Given the description of an element on the screen output the (x, y) to click on. 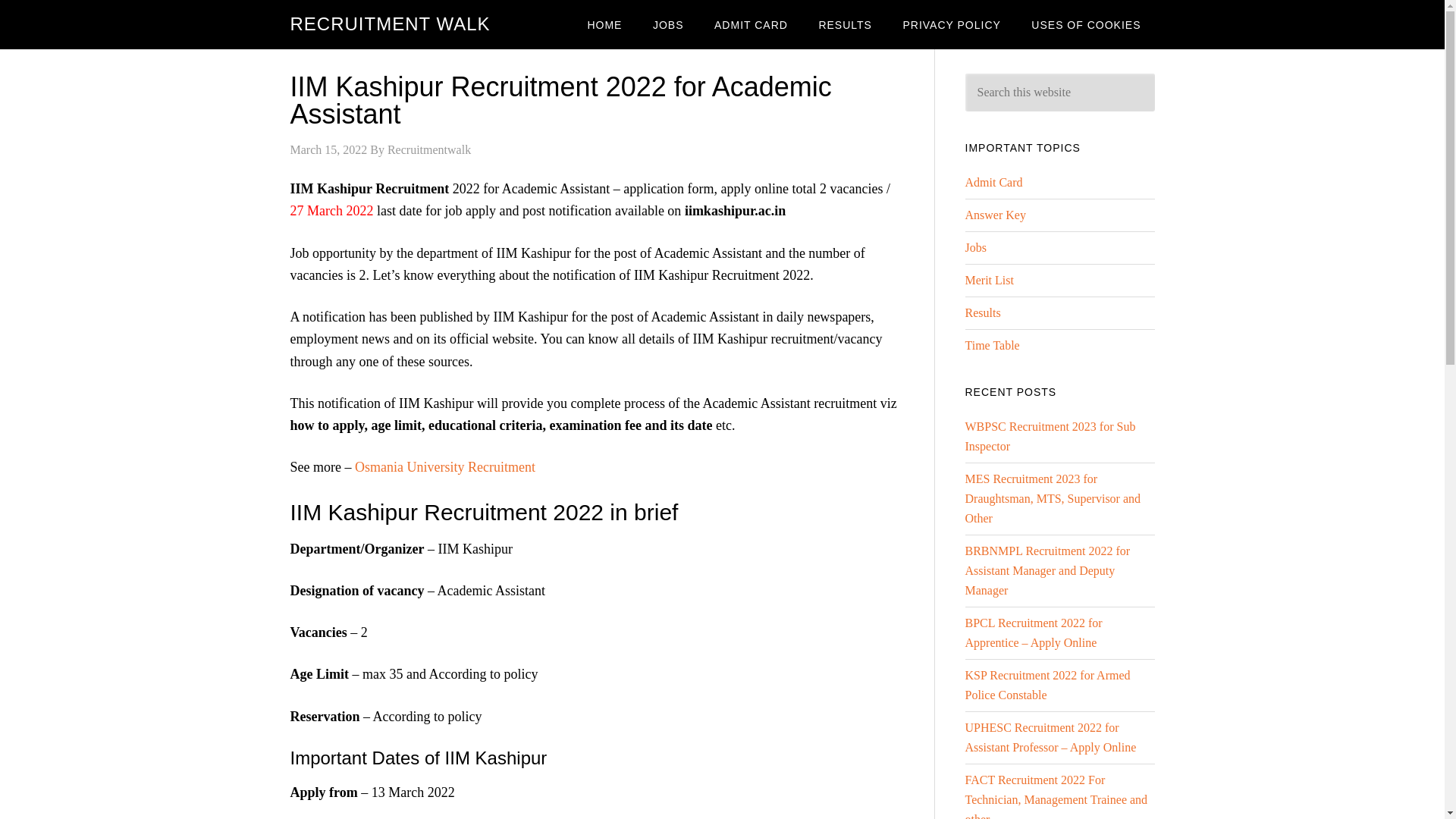
JOBS (668, 24)
RECRUITMENT WALK (389, 23)
WBPSC Recruitment 2023 for Sub Inspector (1049, 436)
ADMIT CARD (751, 24)
Merit List (988, 279)
Results (981, 312)
HOME (603, 24)
USES OF COOKIES (1085, 24)
PRIVACY POLICY (950, 24)
Osmania University Recruitment (445, 467)
Answer Key (994, 214)
Time Table (991, 345)
